Given the description of an element on the screen output the (x, y) to click on. 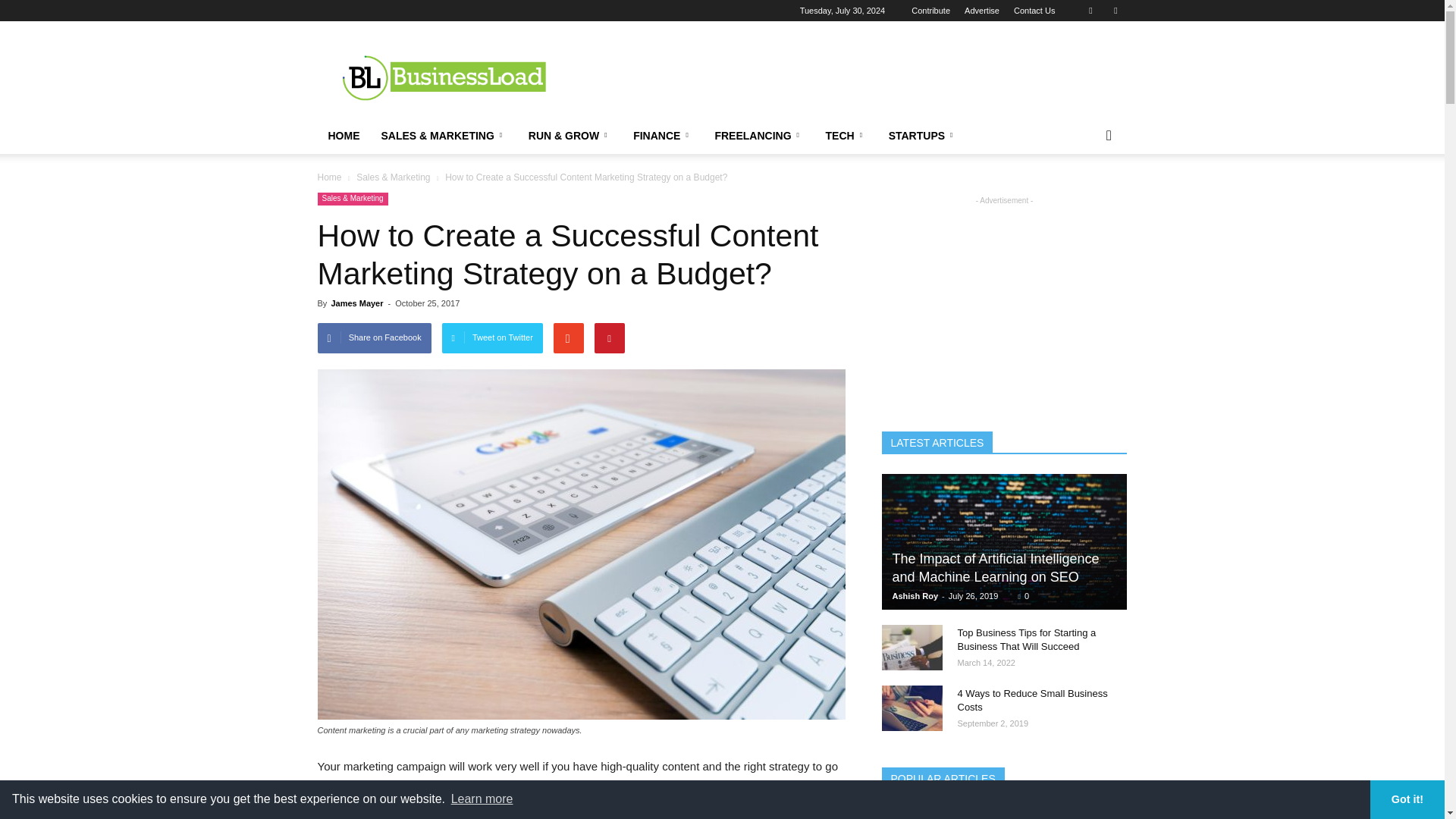
Contribute (930, 10)
Twitter (1114, 10)
Contact Us (1033, 10)
Advertisement (850, 76)
Learn more (481, 798)
Advertise (980, 10)
HOME (343, 135)
Facebook (1090, 10)
